Given the description of an element on the screen output the (x, y) to click on. 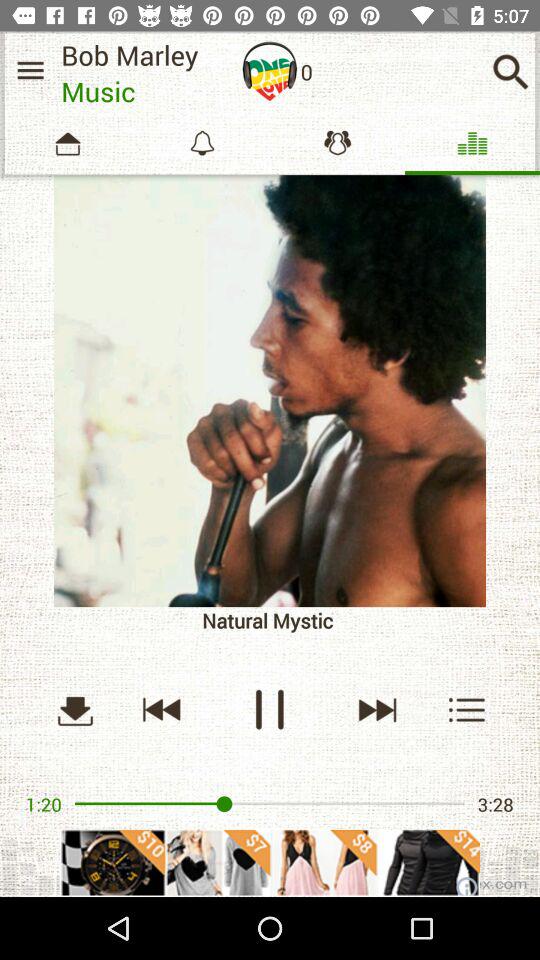
toggle autoplay option (269, 71)
